Given the description of an element on the screen output the (x, y) to click on. 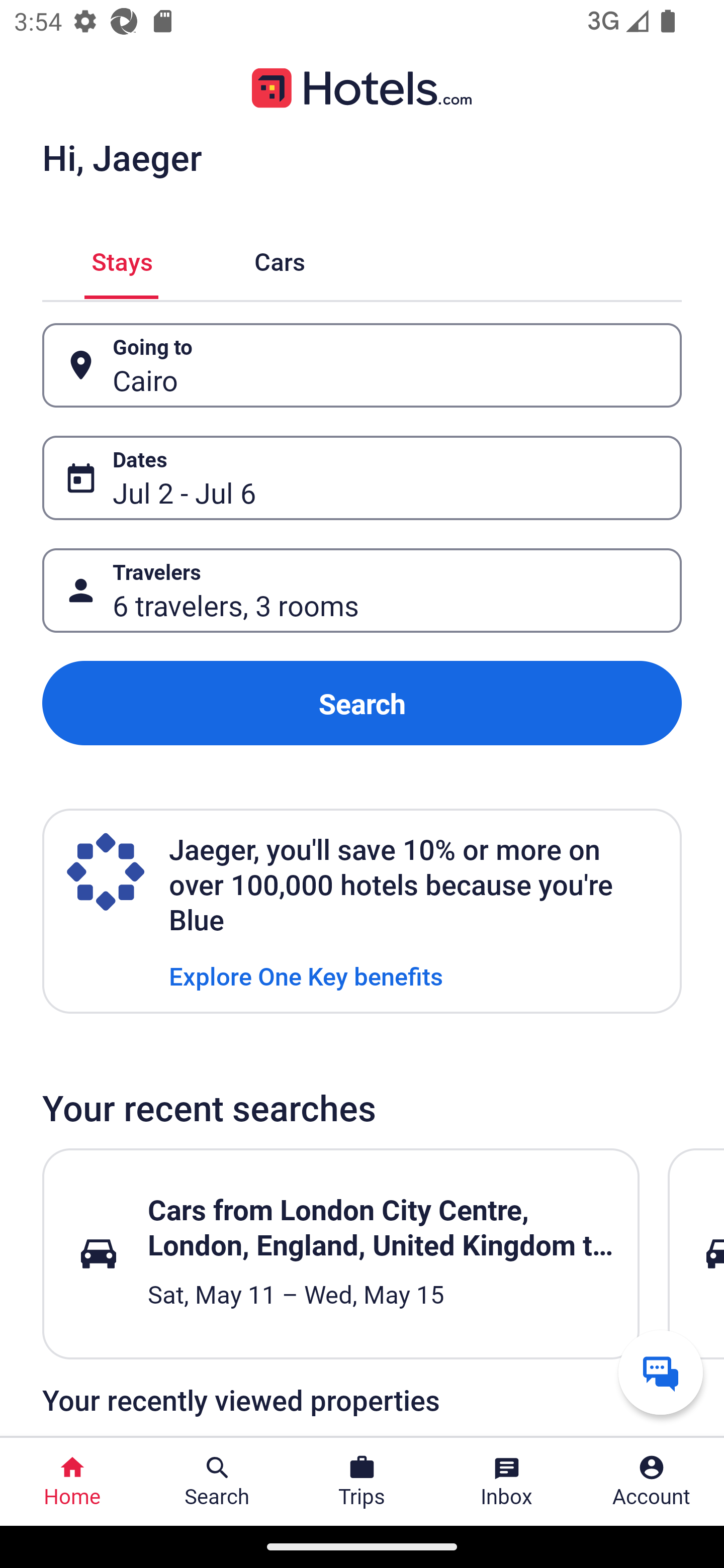
Hi, Jaeger (121, 156)
Cars (279, 259)
Going to Button Cairo (361, 365)
Dates Button Jul 2 - Jul 6 (361, 477)
Travelers Button 6 travelers, 3 rooms (361, 590)
Search (361, 702)
Get help from a virtual agent (660, 1371)
Search Search Button (216, 1481)
Trips Trips Button (361, 1481)
Inbox Inbox Button (506, 1481)
Account Profile. Button (651, 1481)
